Given the description of an element on the screen output the (x, y) to click on. 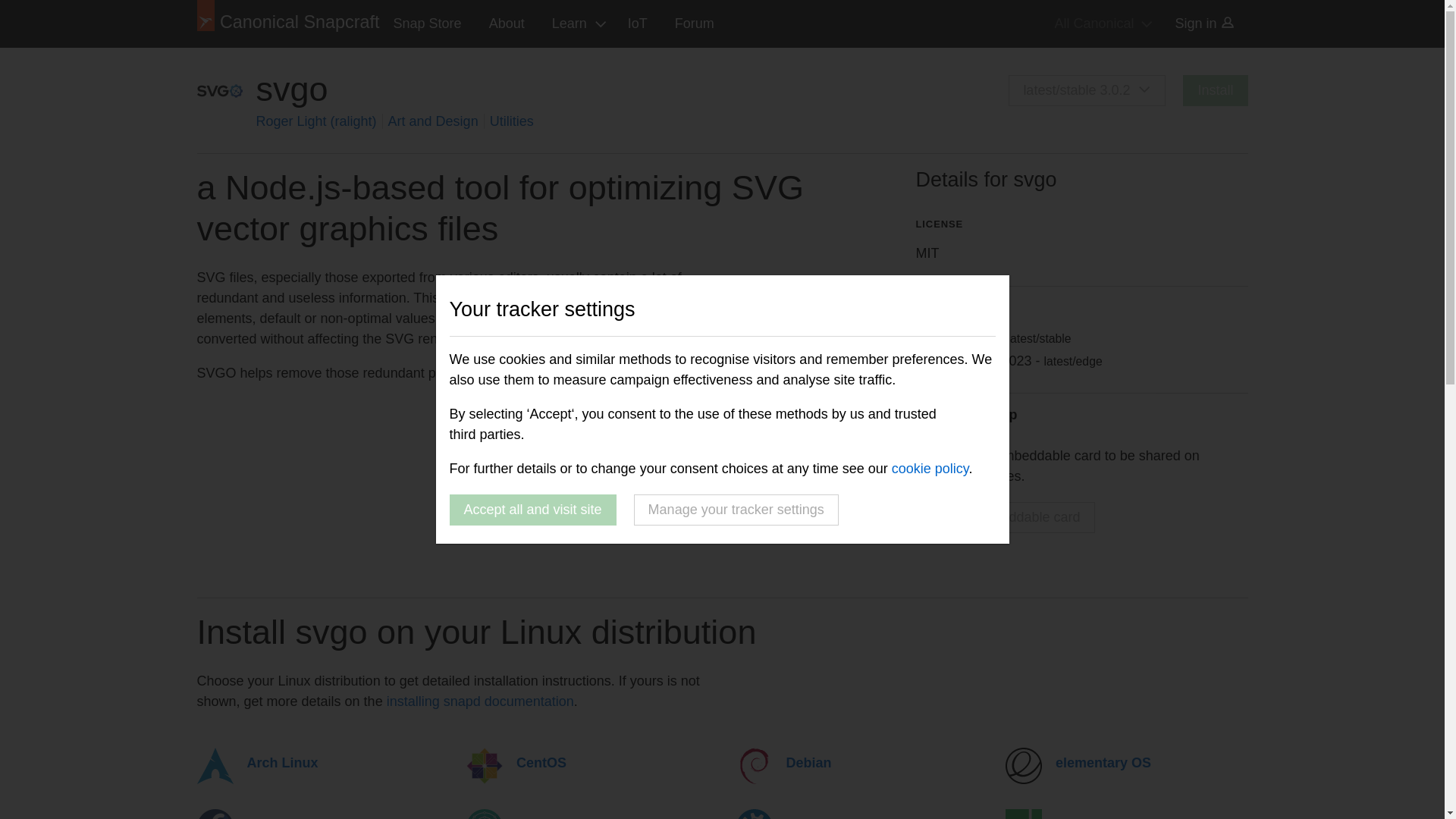
Learn (576, 23)
Snap Store (428, 23)
Forum (694, 23)
About (507, 23)
IoT (637, 23)
Canonical Snapcraft (288, 23)
